Given the description of an element on the screen output the (x, y) to click on. 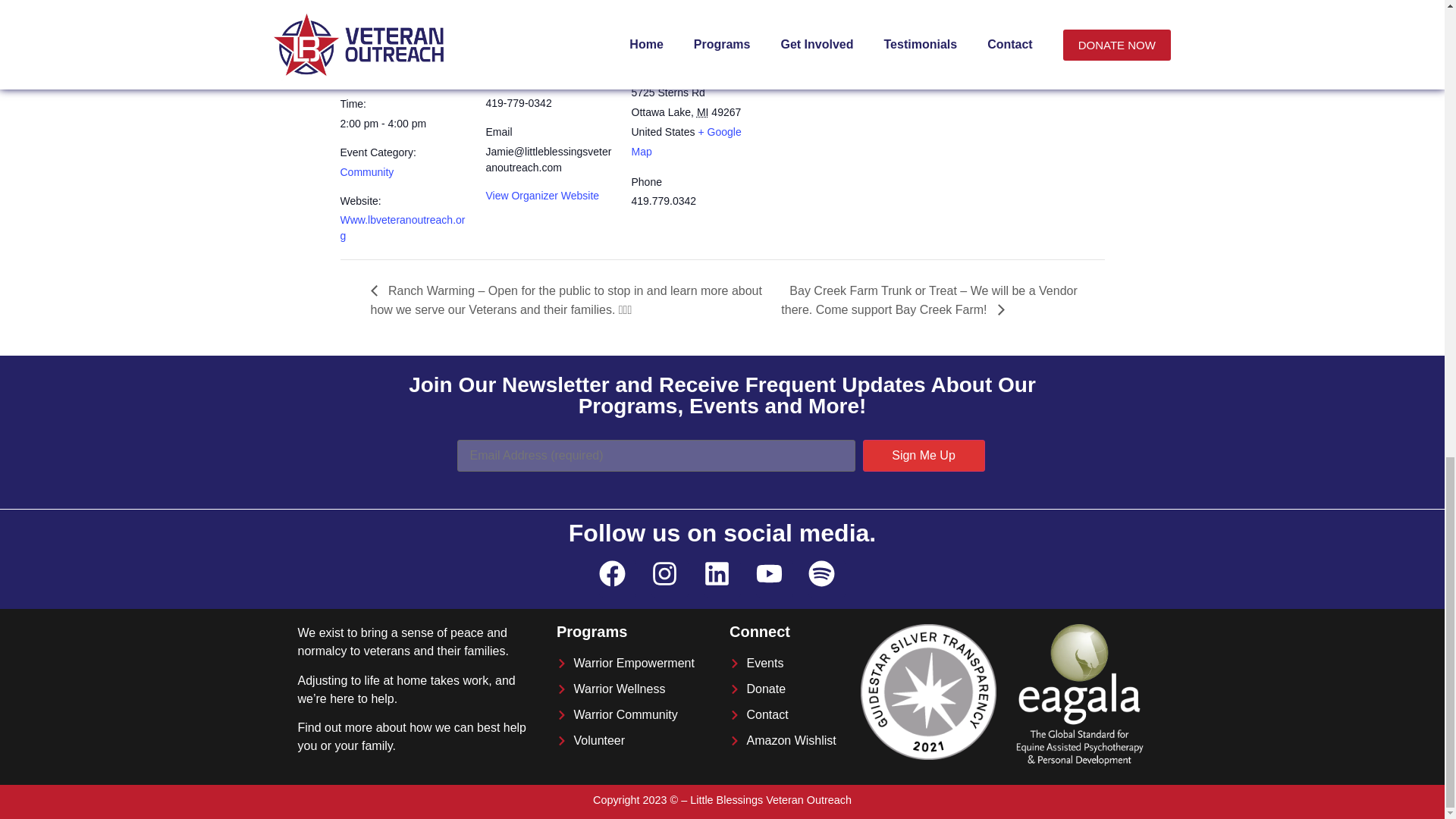
Sign Me Up (924, 455)
2022-10-20 (380, 74)
2022-10-20 (403, 123)
Click to view a Google Map (685, 142)
Michigan (703, 111)
